Given the description of an element on the screen output the (x, y) to click on. 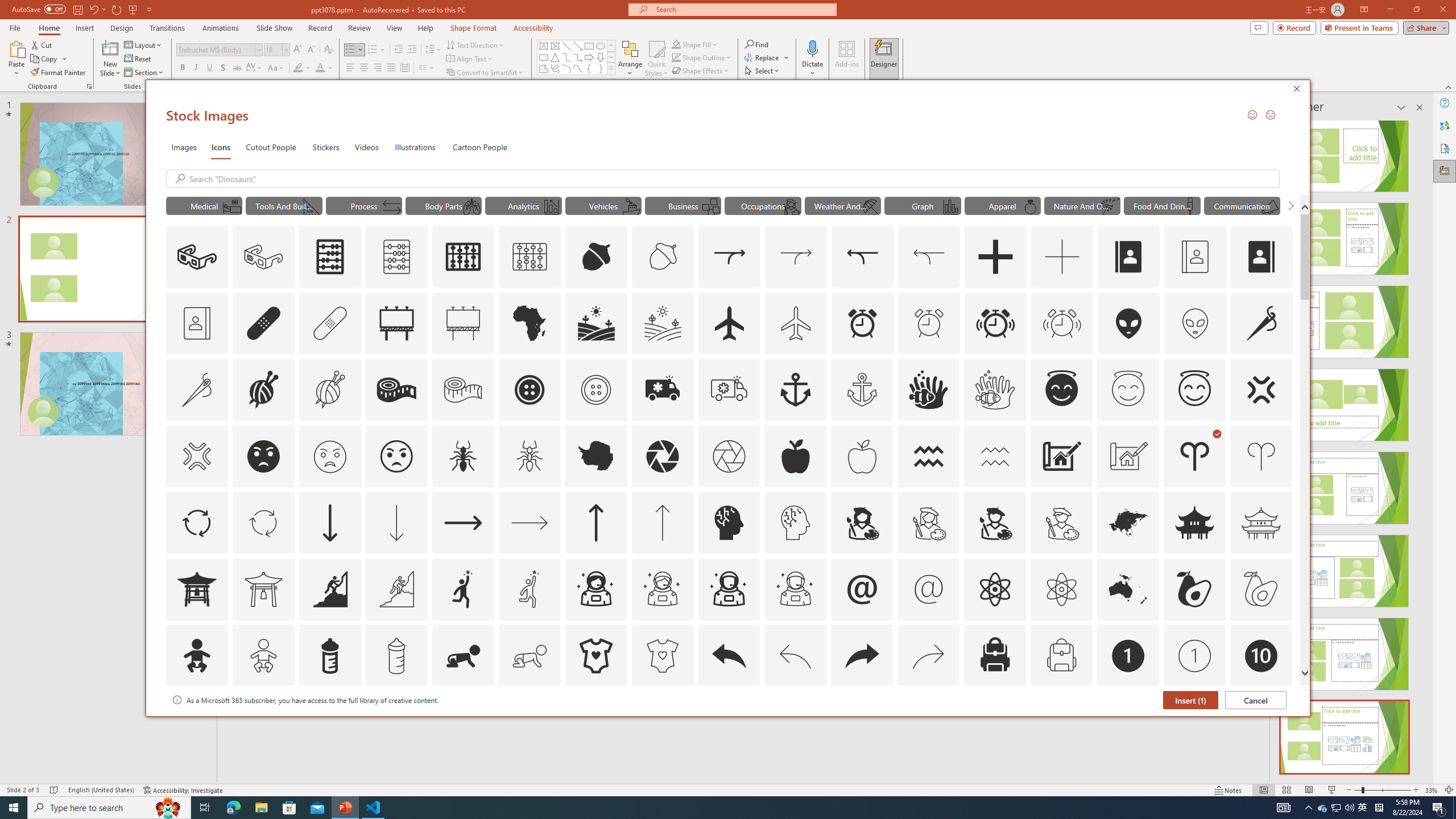
AutomationID: Icons_AlarmRinging (995, 323)
AutomationID: Icons_Dandelion_M (1110, 206)
Cutout People (271, 146)
AutomationID: Icons_Megaphone_M (1269, 206)
AutomationID: Icons_Aquarius (928, 455)
AutomationID: Icons_Badge1 (1128, 655)
AutomationID: Icons_ArtificialIntelligence (729, 522)
